Given the description of an element on the screen output the (x, y) to click on. 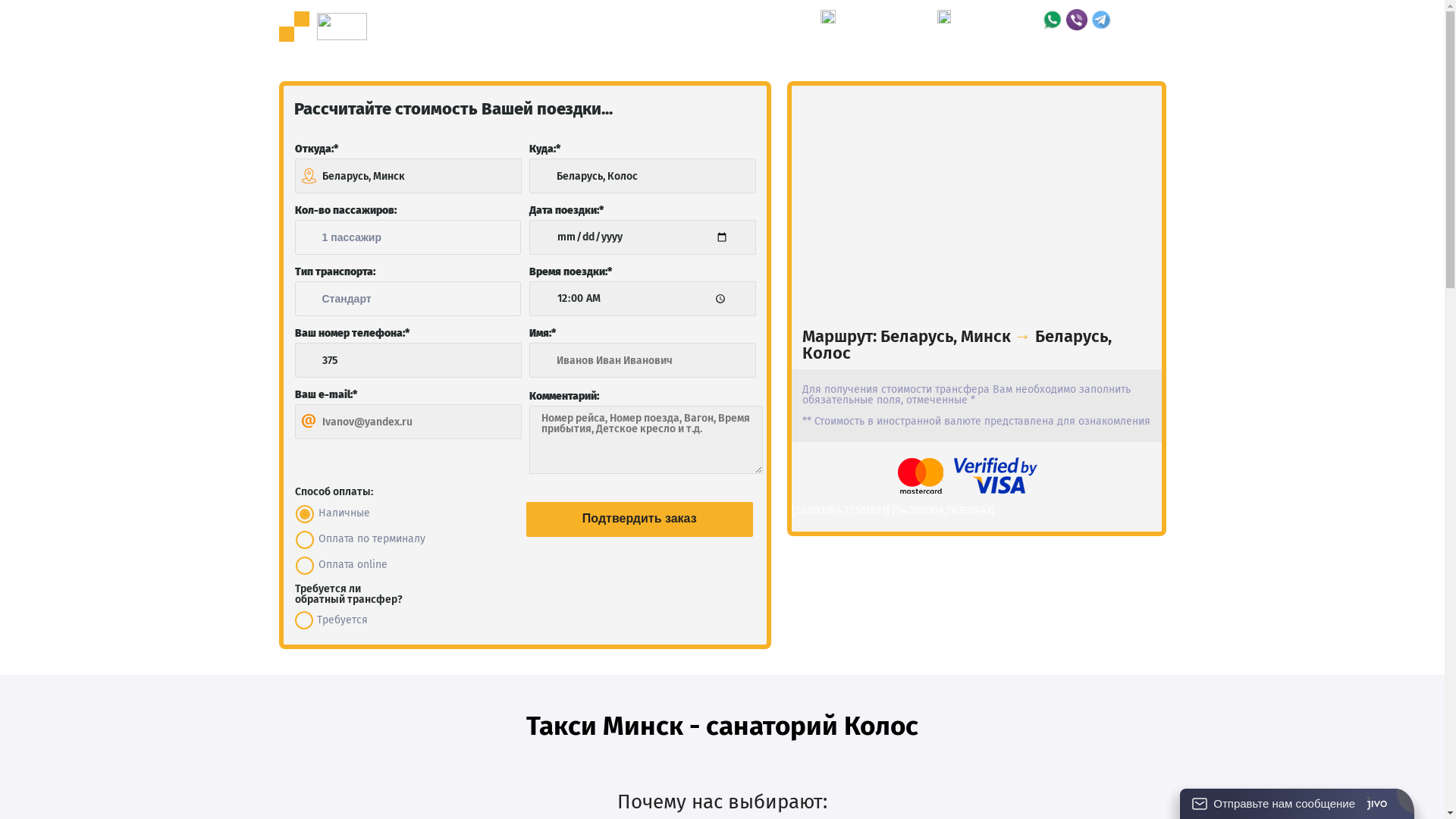
+375293951010 Element type: text (998, 25)
